Given the description of an element on the screen output the (x, y) to click on. 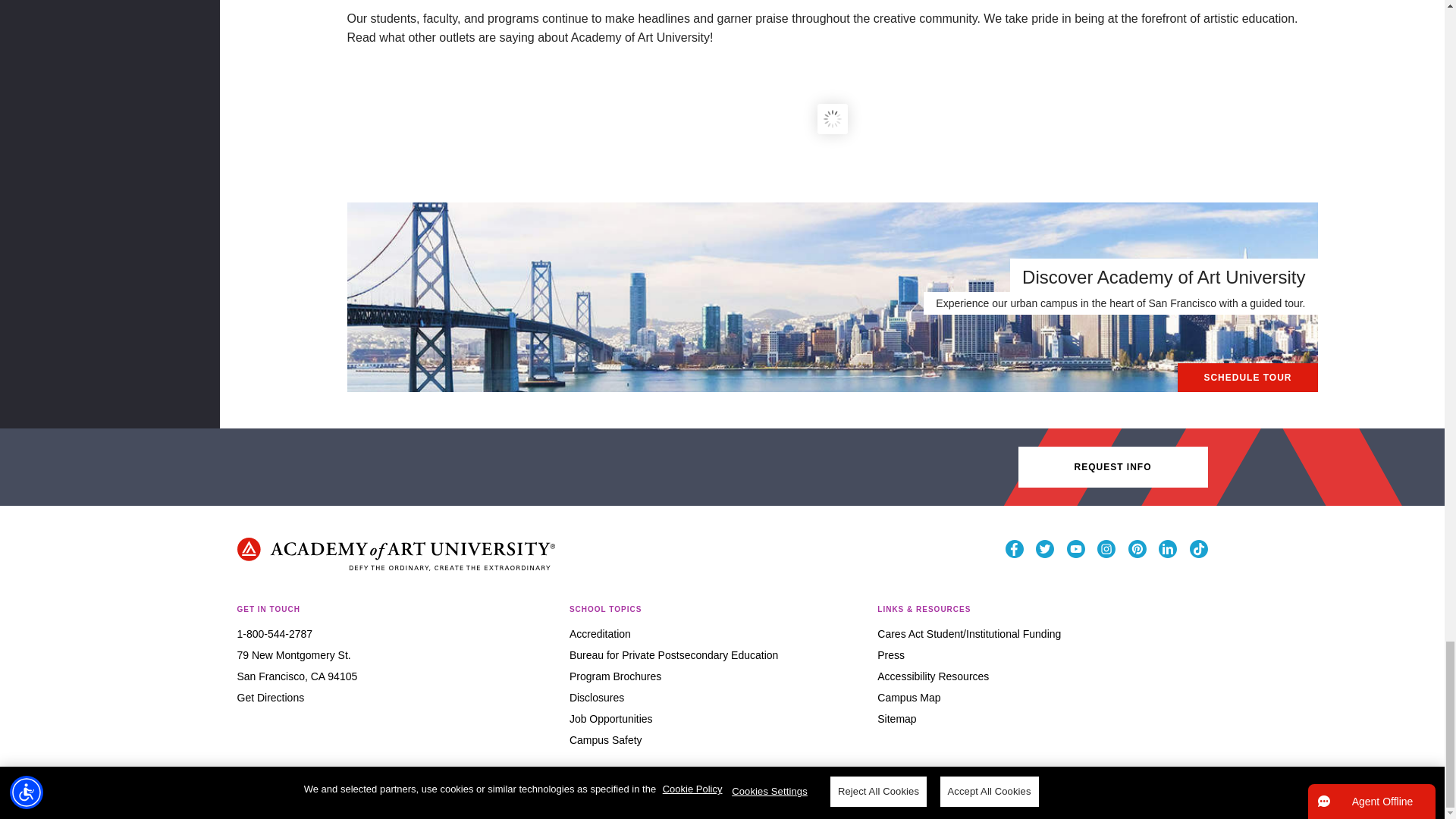
Academy of Art University Logo (394, 554)
